Given the description of an element on the screen output the (x, y) to click on. 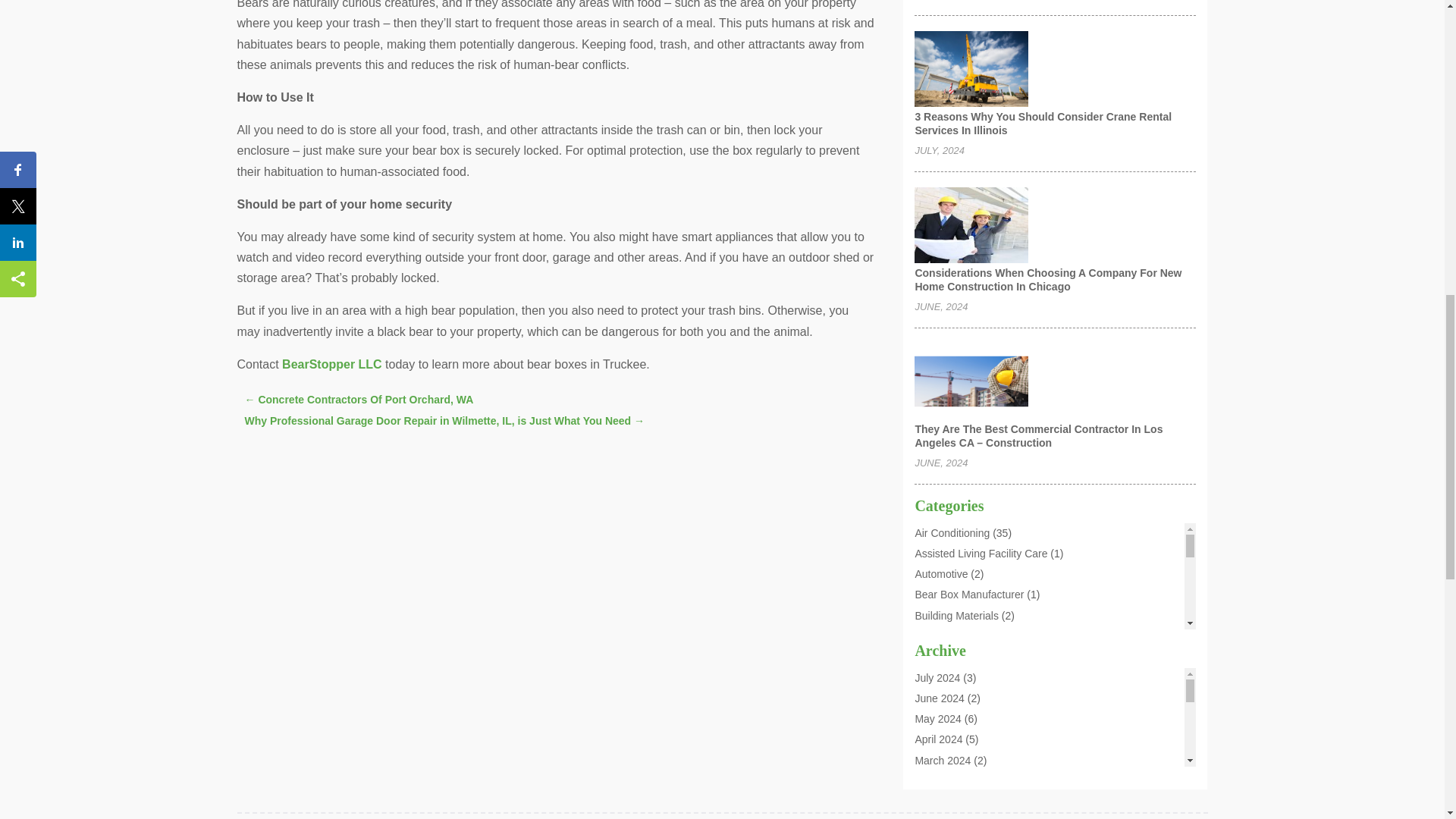
Concrete Suppliers (959, 717)
BearStopper LLC (331, 364)
Cleaning (935, 635)
Assisted Living Facility Care (980, 553)
Air Conditioning (952, 532)
Construction And Maintenance (986, 759)
Building Materials (956, 615)
Automotive (941, 573)
Cleaning Tips And Tools (970, 656)
Bear Box Manufacturer (968, 594)
Commercial Contractors (971, 676)
Concrete Contractor (962, 697)
Construction Company (968, 779)
